Given the description of an element on the screen output the (x, y) to click on. 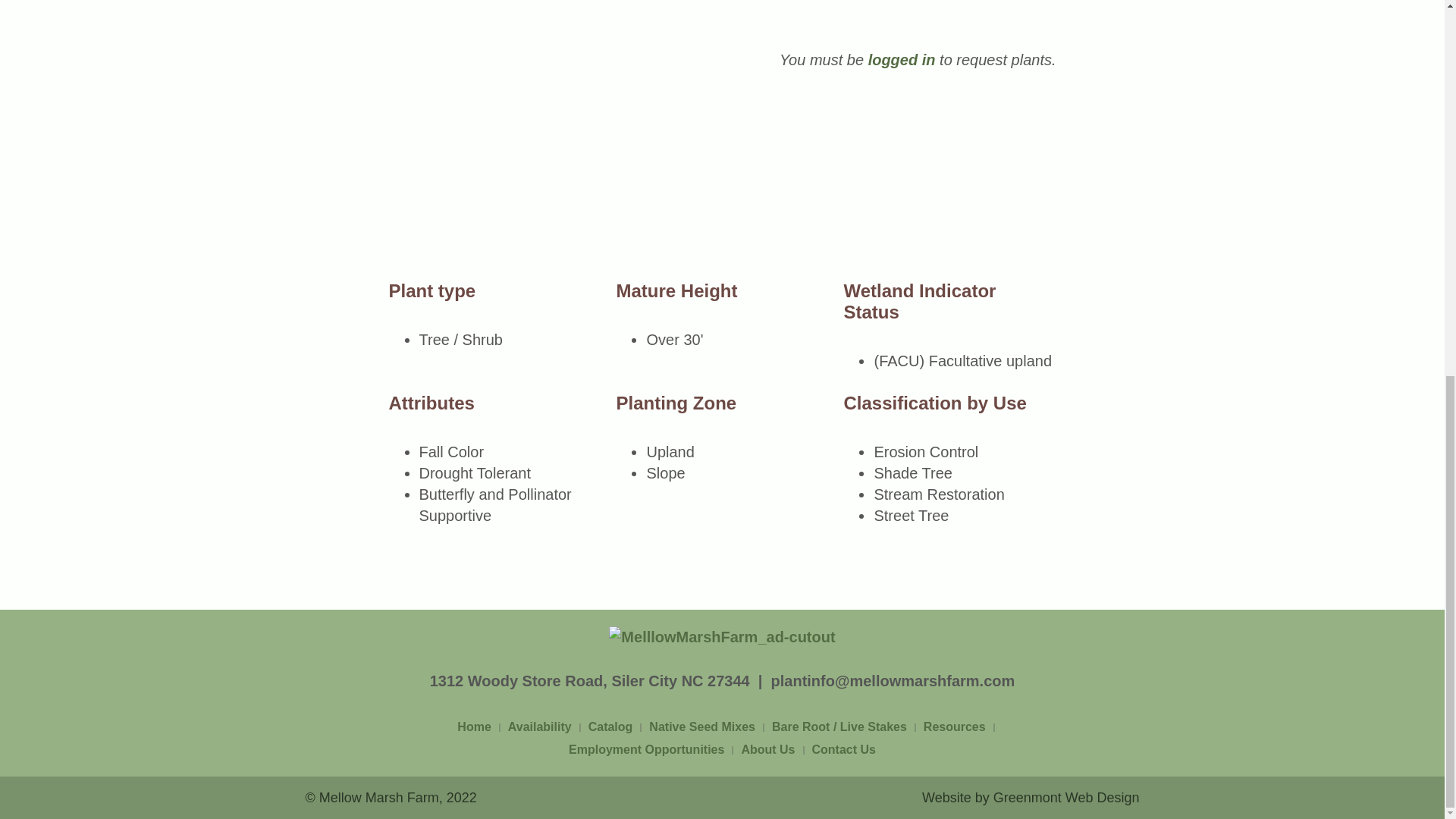
10717 (1019, 139)
logged in (901, 59)
10717 (1019, 203)
